Given the description of an element on the screen output the (x, y) to click on. 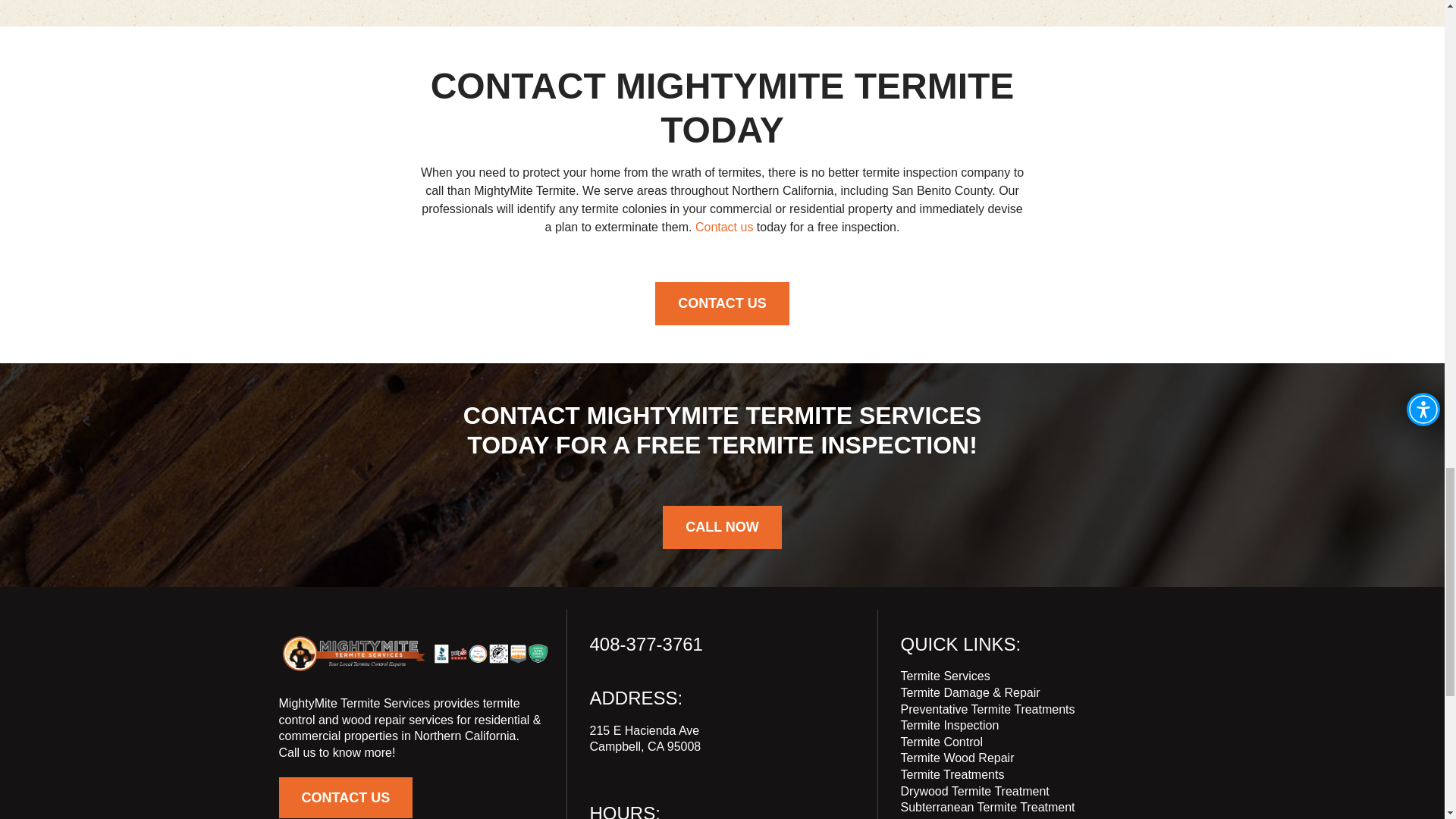
MightyMite Termite (414, 653)
